Given the description of an element on the screen output the (x, y) to click on. 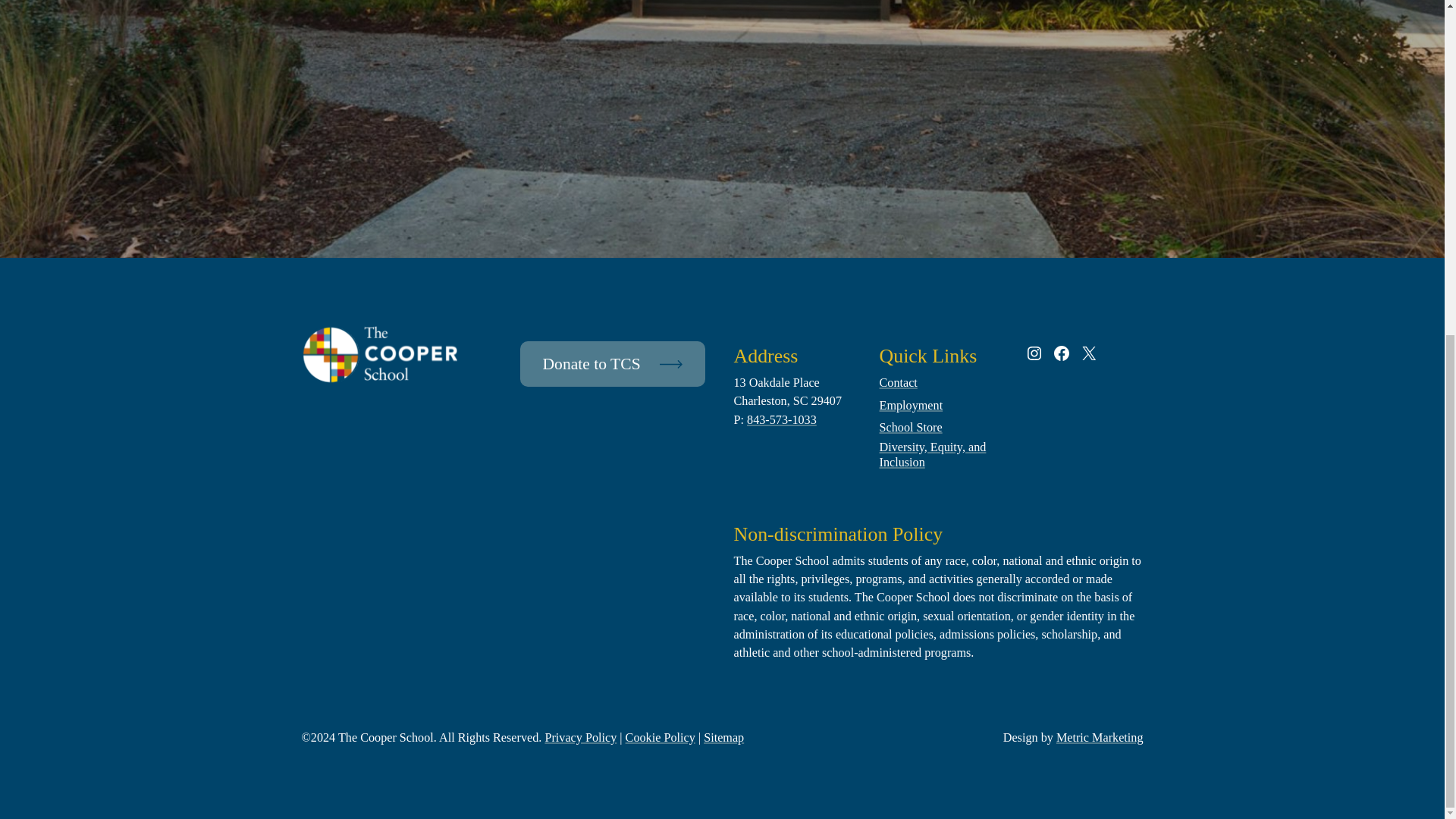
Cookie Policy  (660, 738)
Privacy Policy  (579, 738)
